Given the description of an element on the screen output the (x, y) to click on. 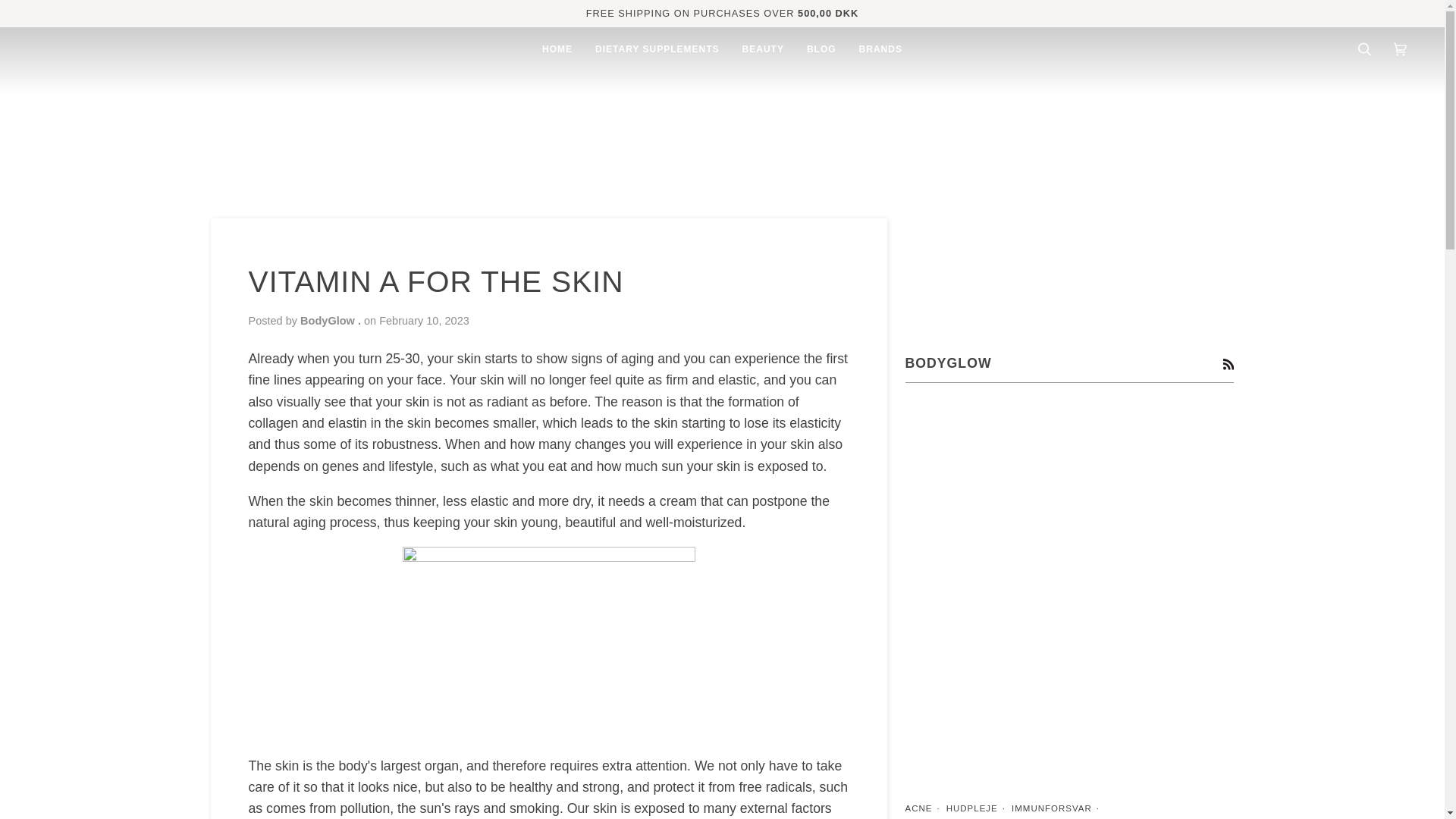
HOME (557, 49)
BEAUTY (762, 49)
BodyGlow.dk RSS (1228, 363)
DIETARY SUPPLEMENTS (656, 49)
BRANDS (880, 49)
BLOG (820, 49)
